Given the description of an element on the screen output the (x, y) to click on. 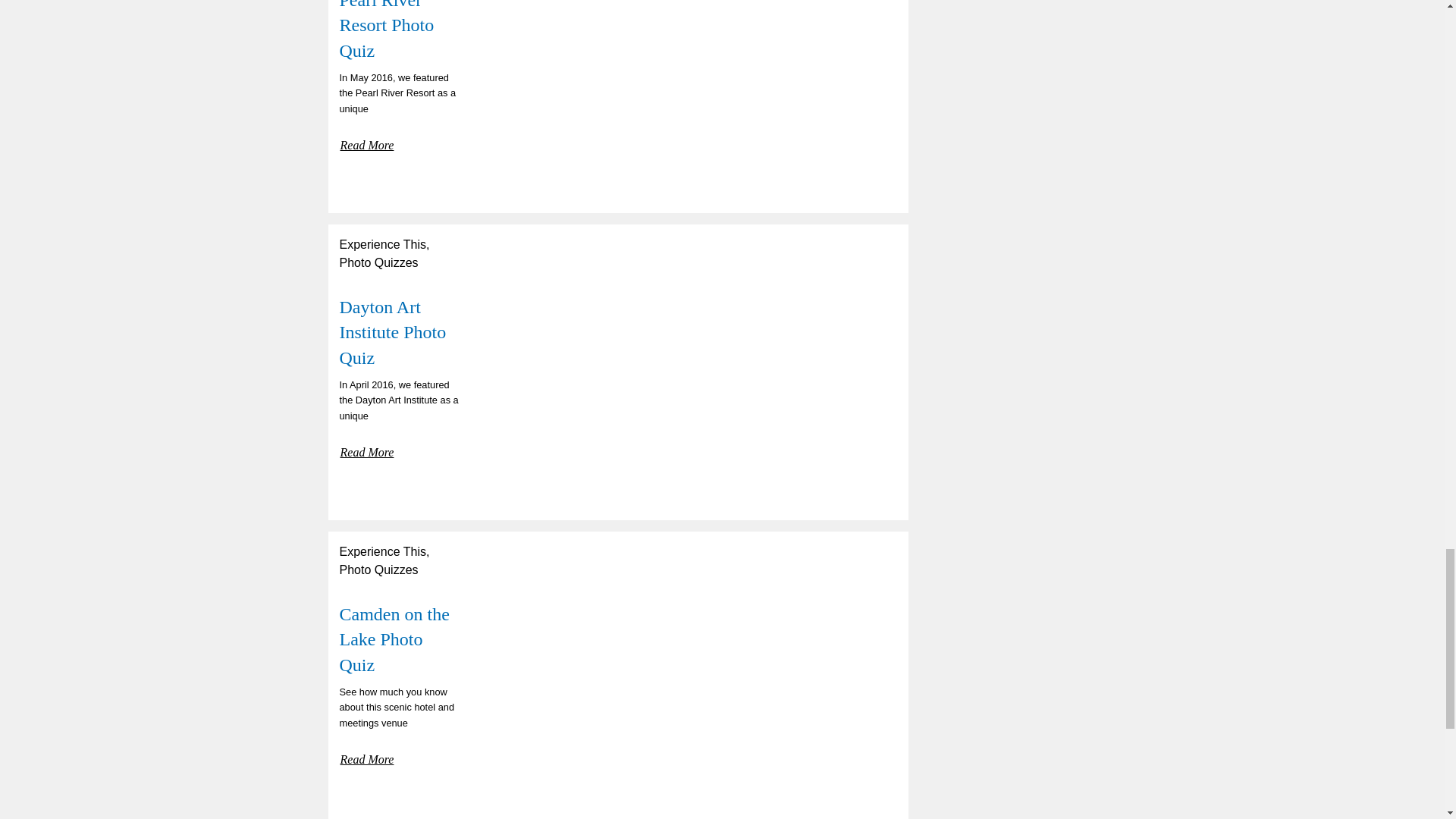
Pearl River Resort Photo Quiz (386, 30)
Camden on the Lake Photo Quiz (394, 639)
Dayton Art Institute Photo Quiz (392, 332)
